Given the description of an element on the screen output the (x, y) to click on. 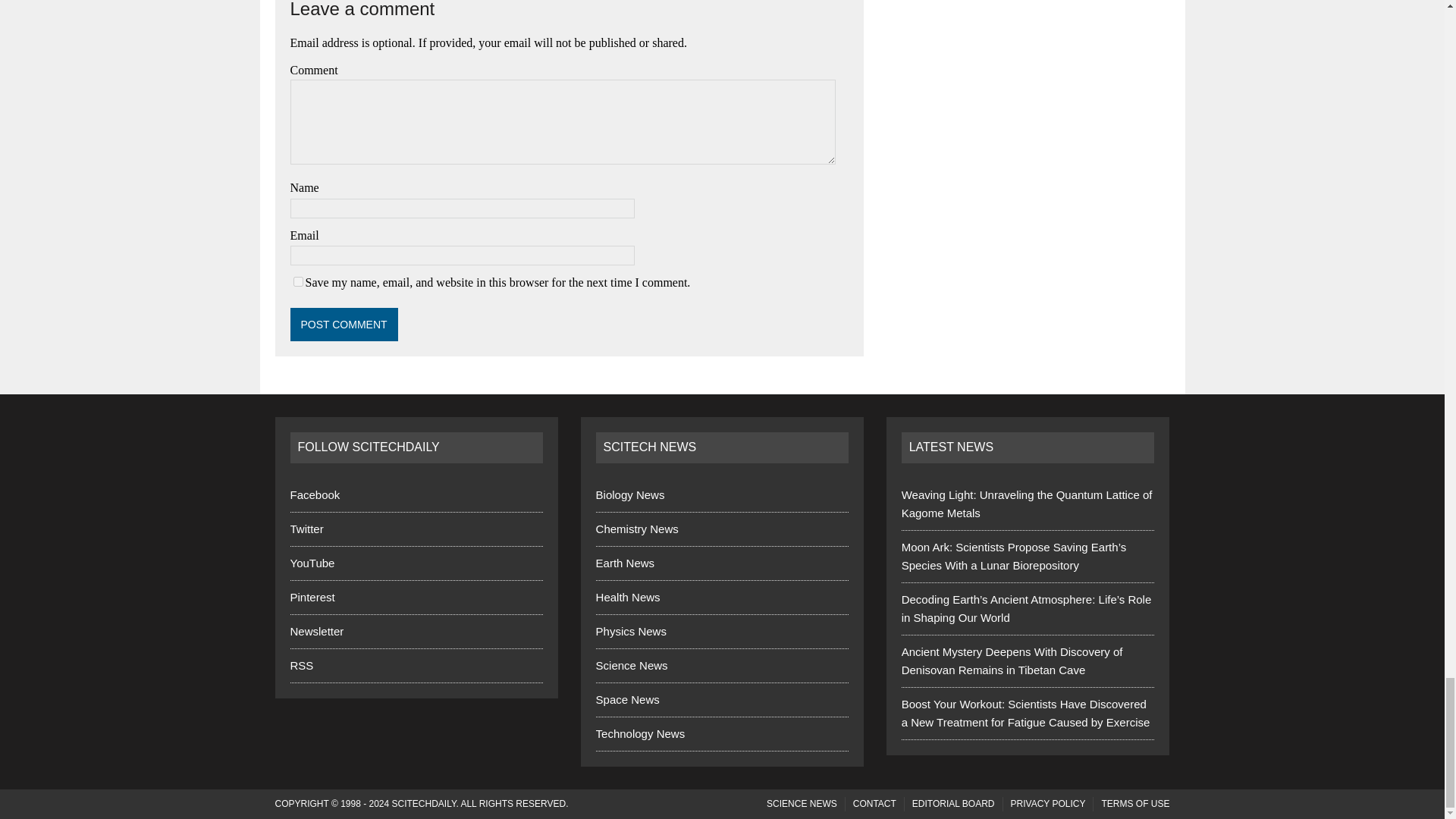
Post Comment (343, 324)
yes (297, 281)
